Given the description of an element on the screen output the (x, y) to click on. 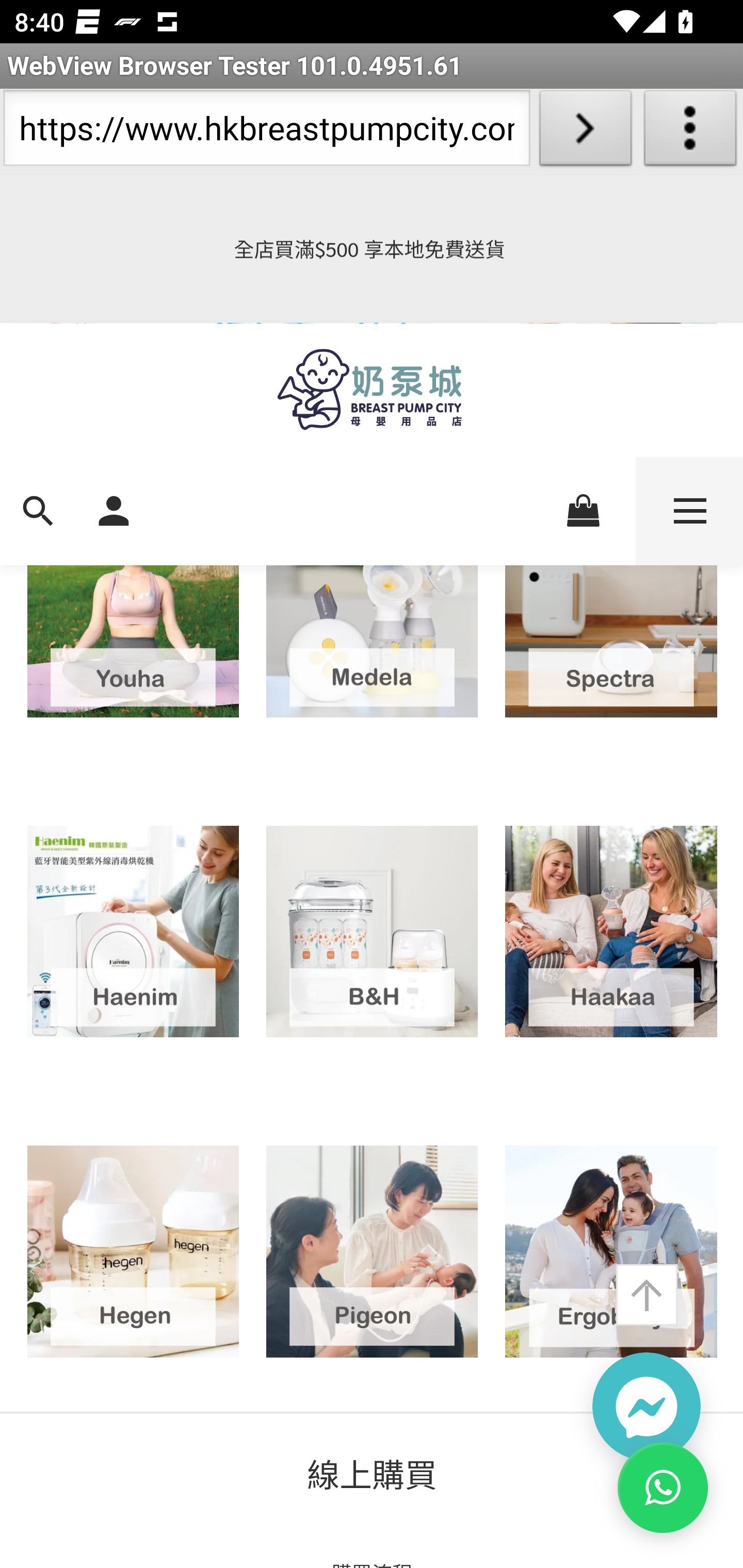
https://www.hkbreastpumpcity.com/ (266, 132)
Load URL (585, 132)
About WebView (690, 132)
全店買滿$500 享本地免費送貨  (371, 250)
594x (371, 390)
線上購買 (372, 1475)
